Given the description of an element on the screen output the (x, y) to click on. 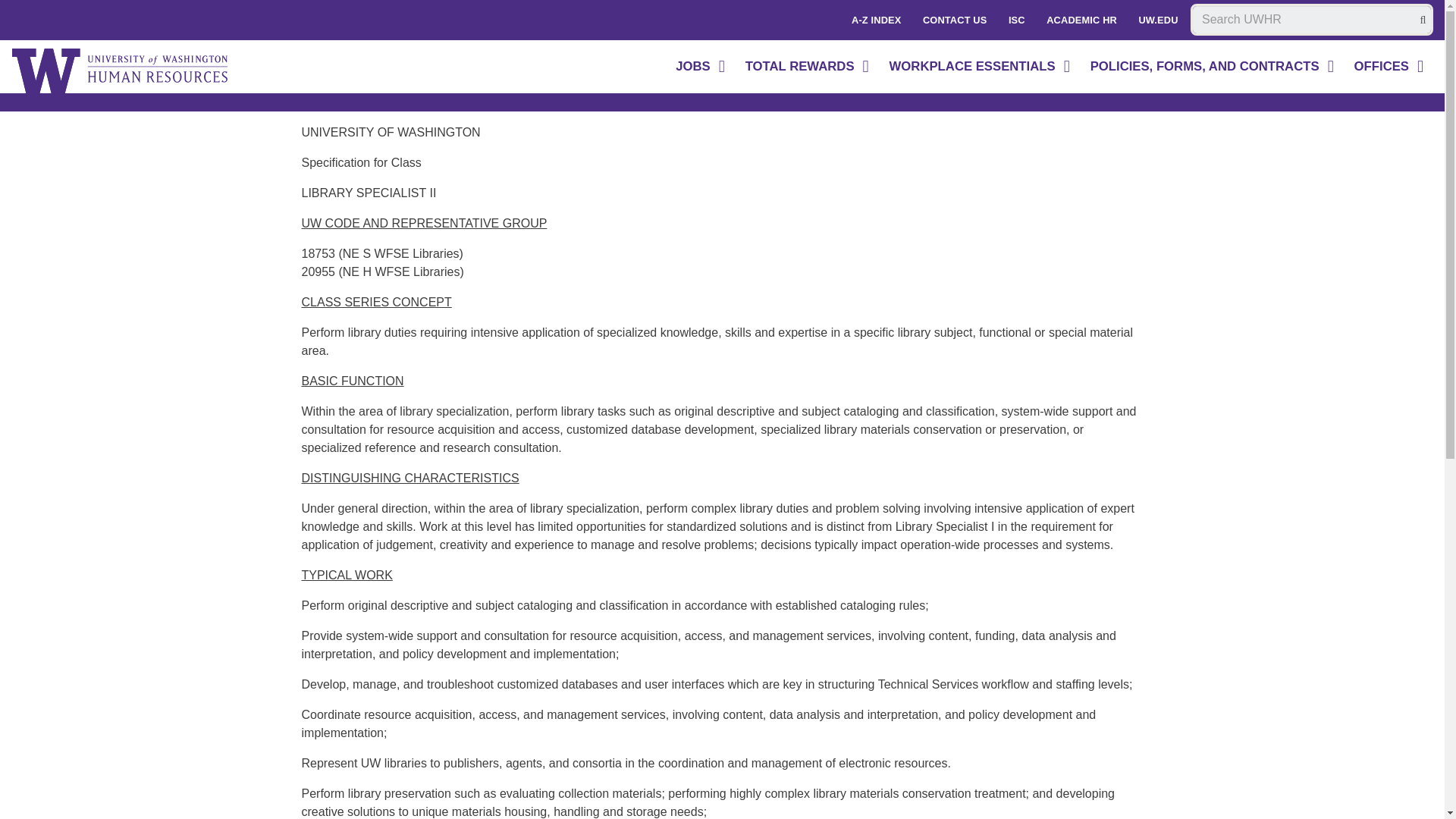
ISC (1015, 19)
CONTACT US (954, 19)
ACADEMIC HR (1080, 19)
JOBS (701, 66)
Search for: (1311, 20)
University of Washington Human Resources Home (120, 70)
WORKPLACE ESSENTIALS (981, 66)
A-Z INDEX (876, 19)
UW.EDU (1157, 19)
TOTAL REWARDS (807, 66)
University of Washington Human Resources Home (120, 70)
